Given the description of an element on the screen output the (x, y) to click on. 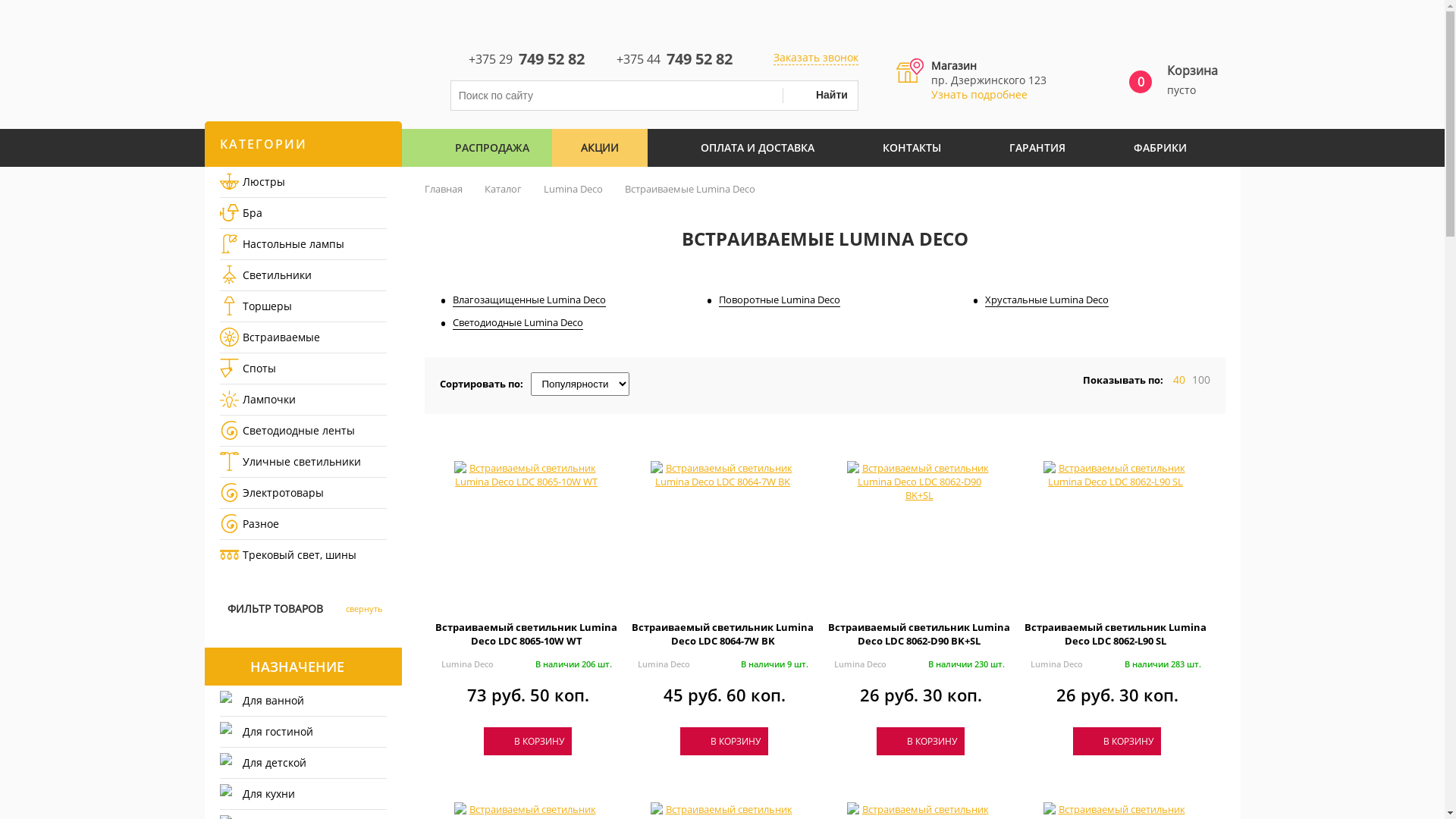
Lumina Deco Element type: text (1055, 663)
+375 44 749 52 82 Element type: text (663, 57)
Lumina Deco Element type: text (467, 663)
Lumina Deco Element type: text (663, 663)
Lumina Deco Element type: text (860, 663)
+375 29 749 52 82 Element type: text (518, 57)
Lumina Deco Element type: text (573, 188)
